Given the description of an element on the screen output the (x, y) to click on. 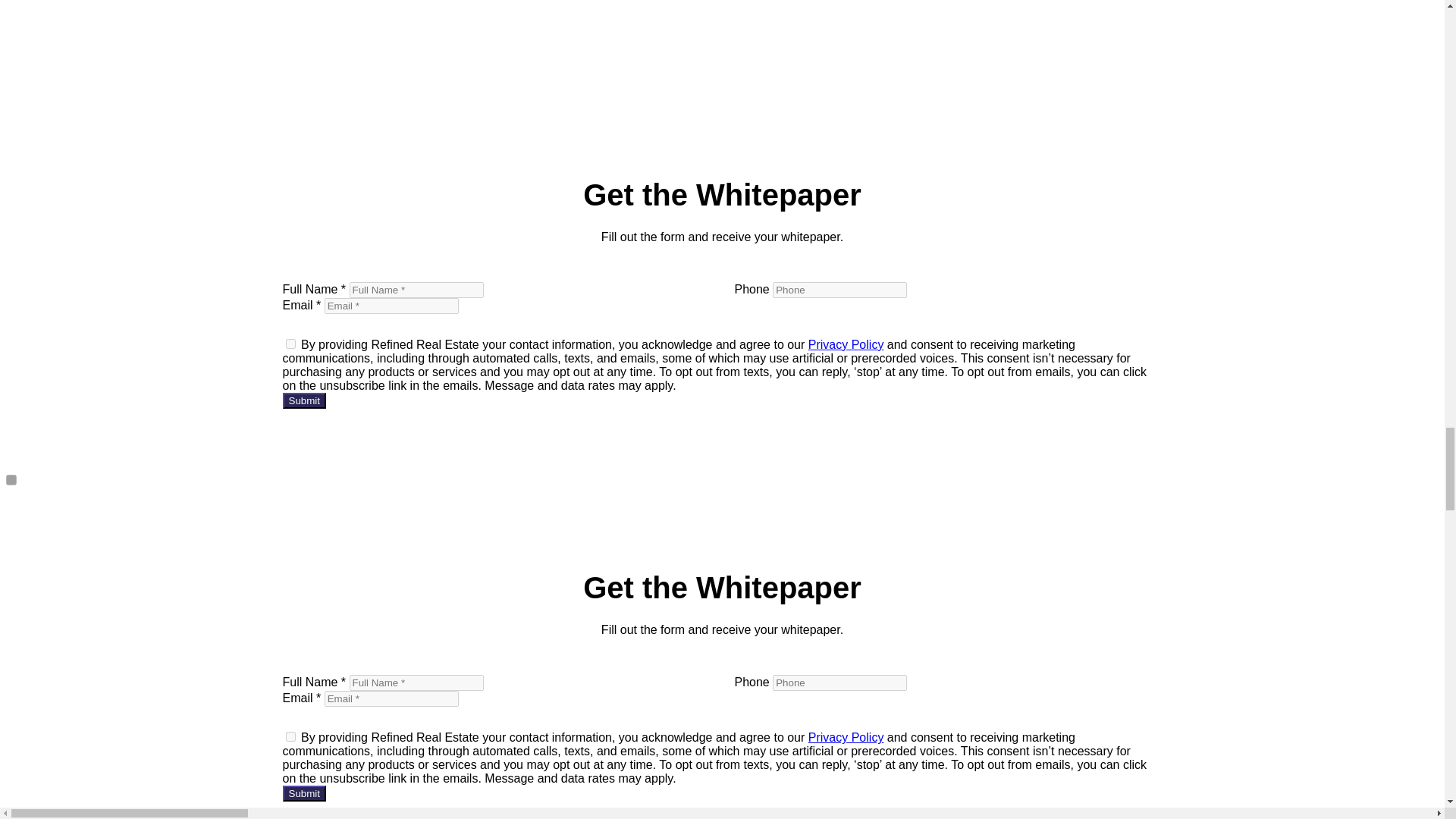
on (290, 737)
on (290, 343)
